Given the description of an element on the screen output the (x, y) to click on. 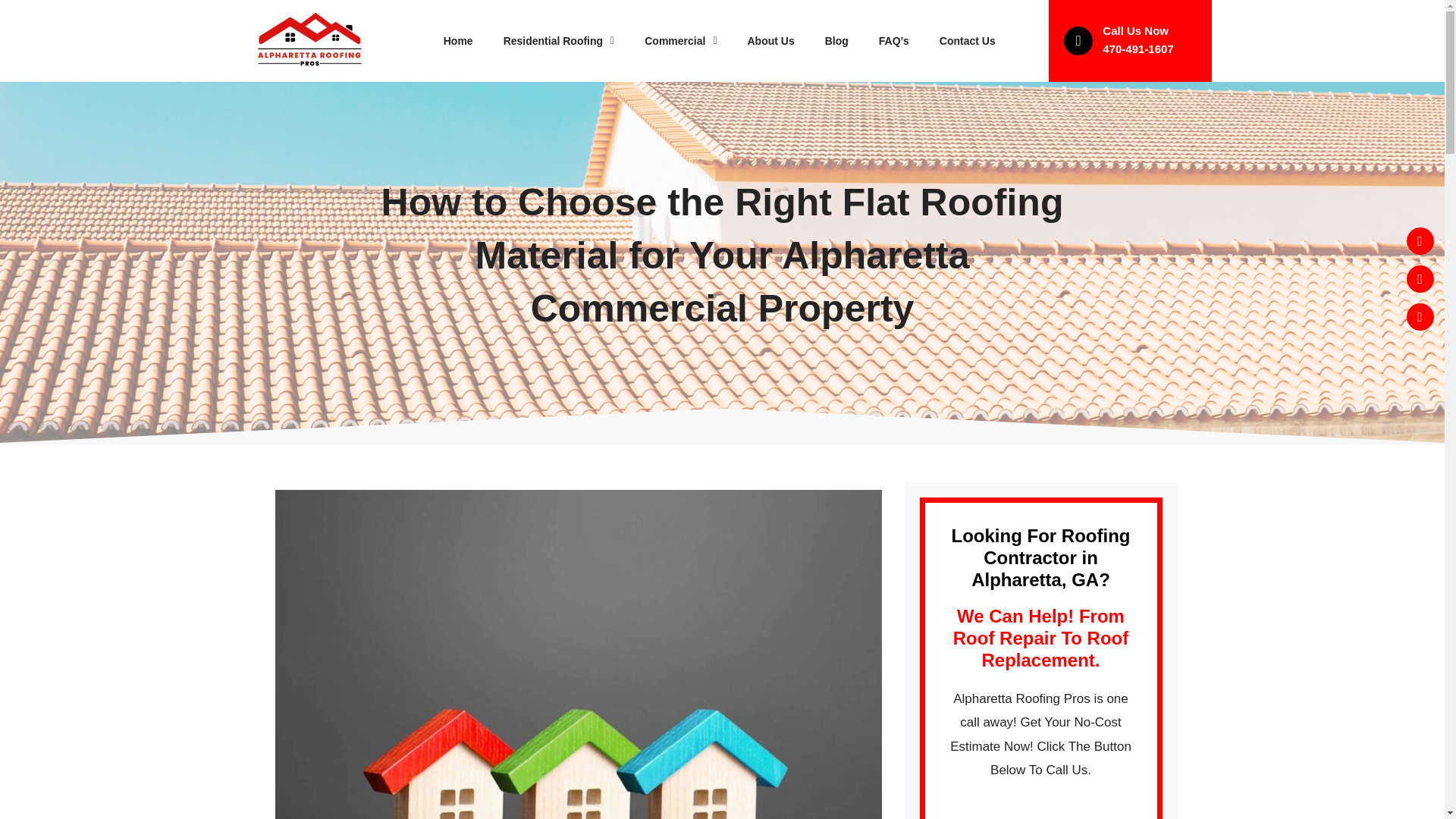
Call Us Now (1135, 30)
Residential Roofing (558, 40)
About Us (770, 40)
Contact Us (967, 40)
Blog (836, 40)
Commercial (680, 40)
Home (457, 40)
